Given the description of an element on the screen output the (x, y) to click on. 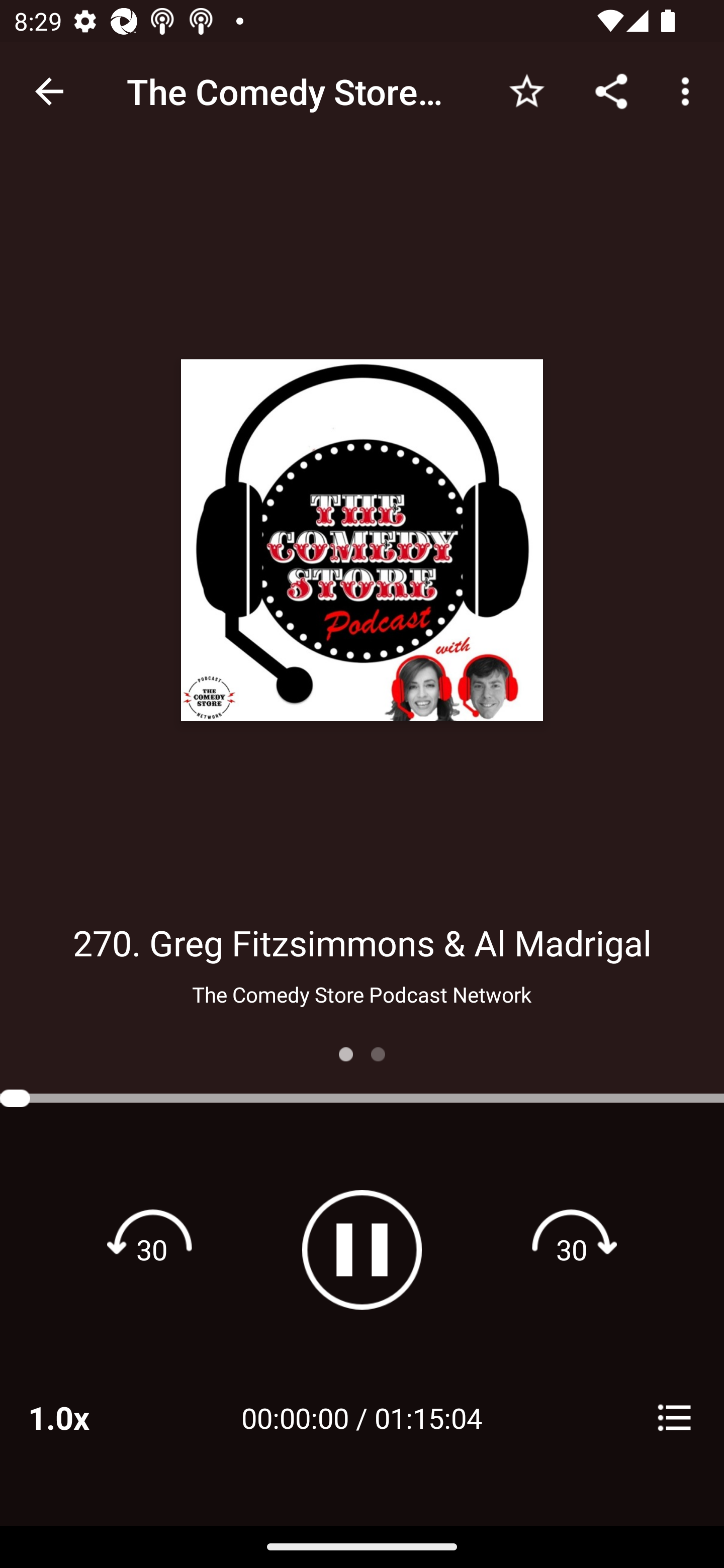
Navigate up (49, 91)
Add to Favorites (526, 90)
Share... (611, 90)
More options (688, 90)
The Comedy Store Podcast Network (361, 994)
Pause (361, 1249)
Rewind (151, 1249)
Fast forward (571, 1249)
1.0x Playback Speeds (84, 1417)
01:15:04 (428, 1417)
